Given the description of an element on the screen output the (x, y) to click on. 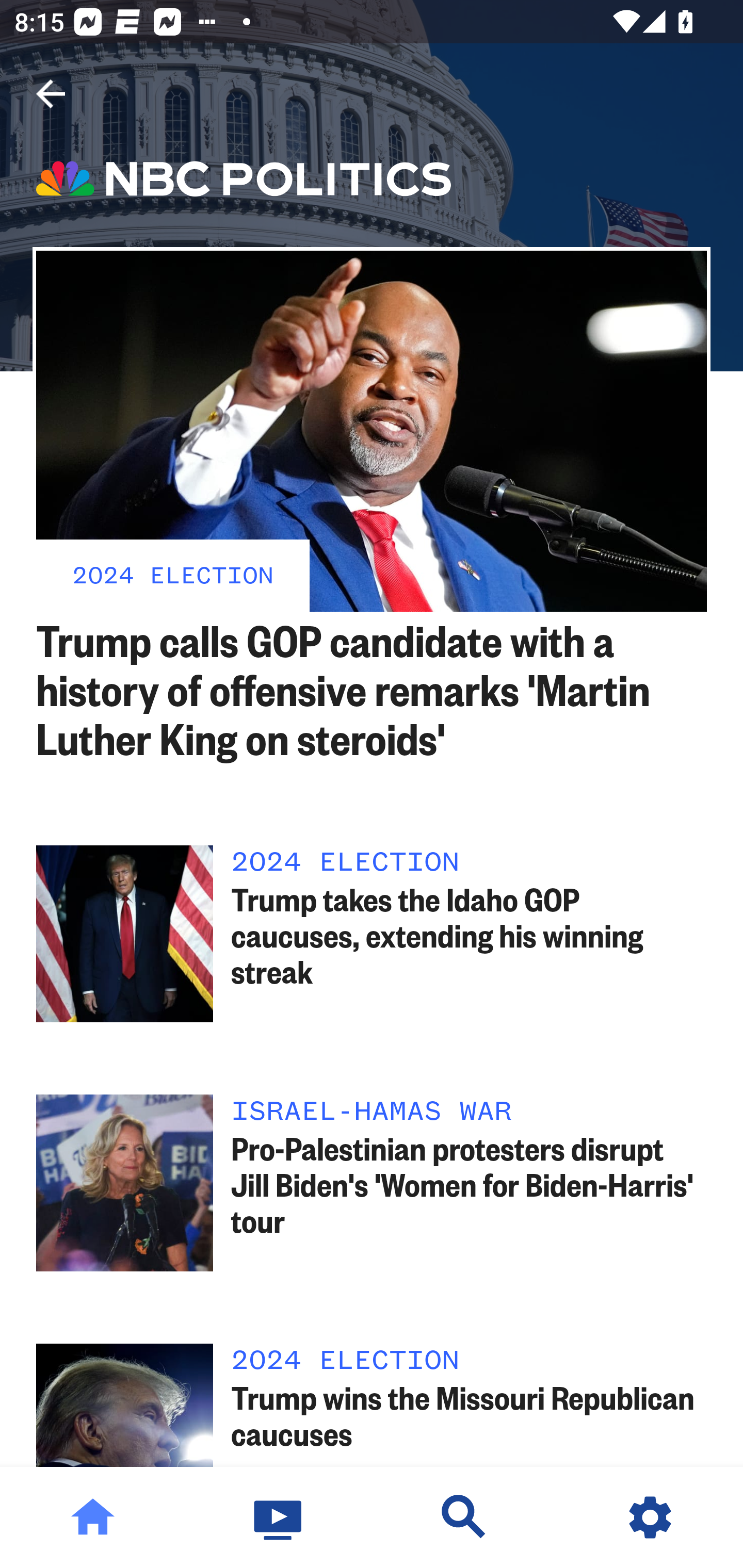
Navigate up (50, 93)
Watch (278, 1517)
Discover (464, 1517)
Settings (650, 1517)
